Given the description of an element on the screen output the (x, y) to click on. 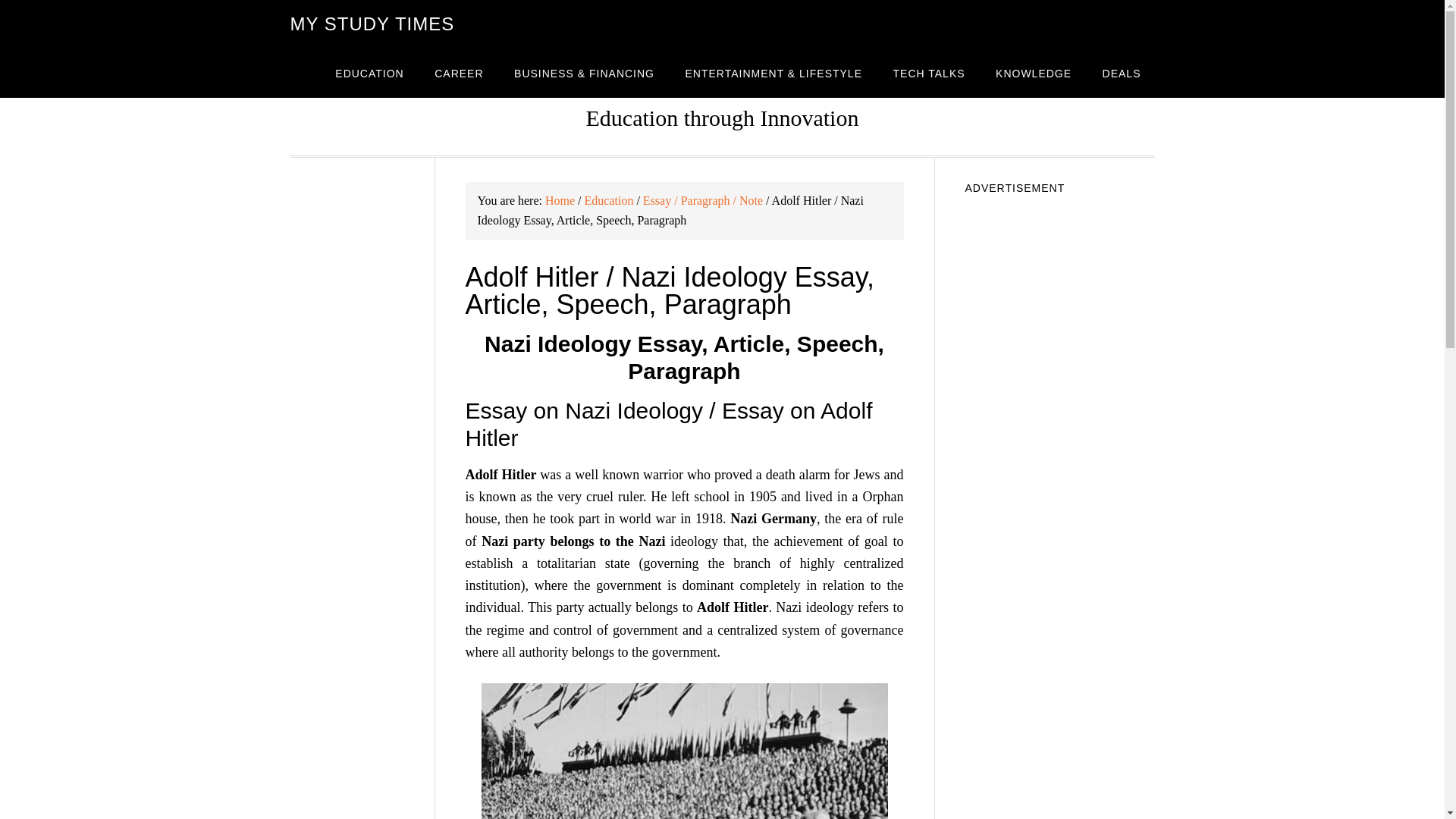
MY STUDY TIMES (371, 23)
TECH TALKS (928, 72)
EDUCATION (368, 72)
KNOWLEDGE (1032, 72)
Home (559, 200)
Advertisement (1058, 758)
DEALS (1121, 72)
CAREER (458, 72)
